Given the description of an element on the screen output the (x, y) to click on. 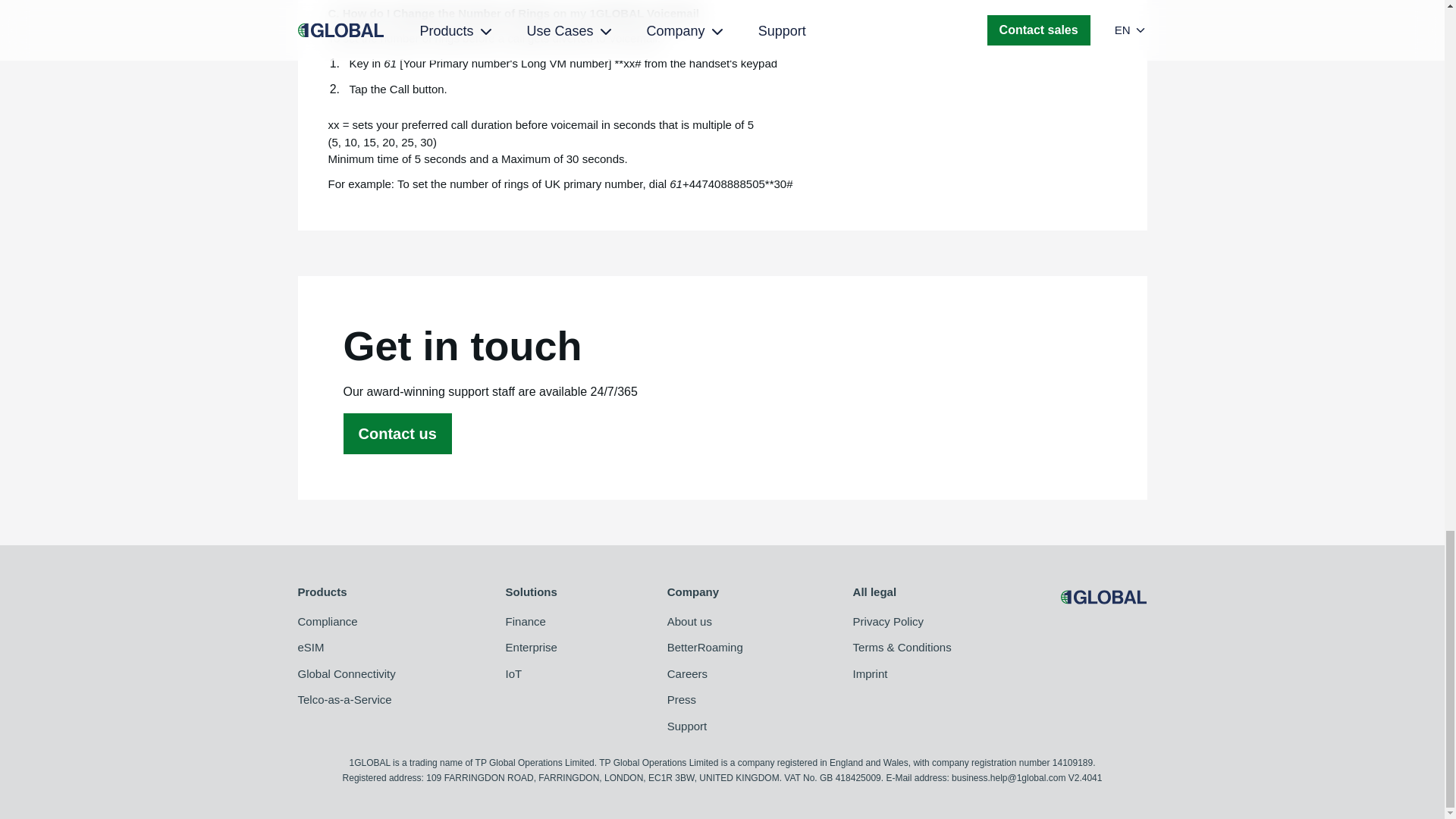
Press (704, 700)
Careers (704, 674)
Company (704, 592)
Privacy Policy (902, 621)
Solutions (531, 592)
All legal (902, 592)
Telco-as-a-Service (345, 700)
BetterRoaming (704, 647)
Imprint (902, 674)
Enterprise (531, 647)
